Given the description of an element on the screen output the (x, y) to click on. 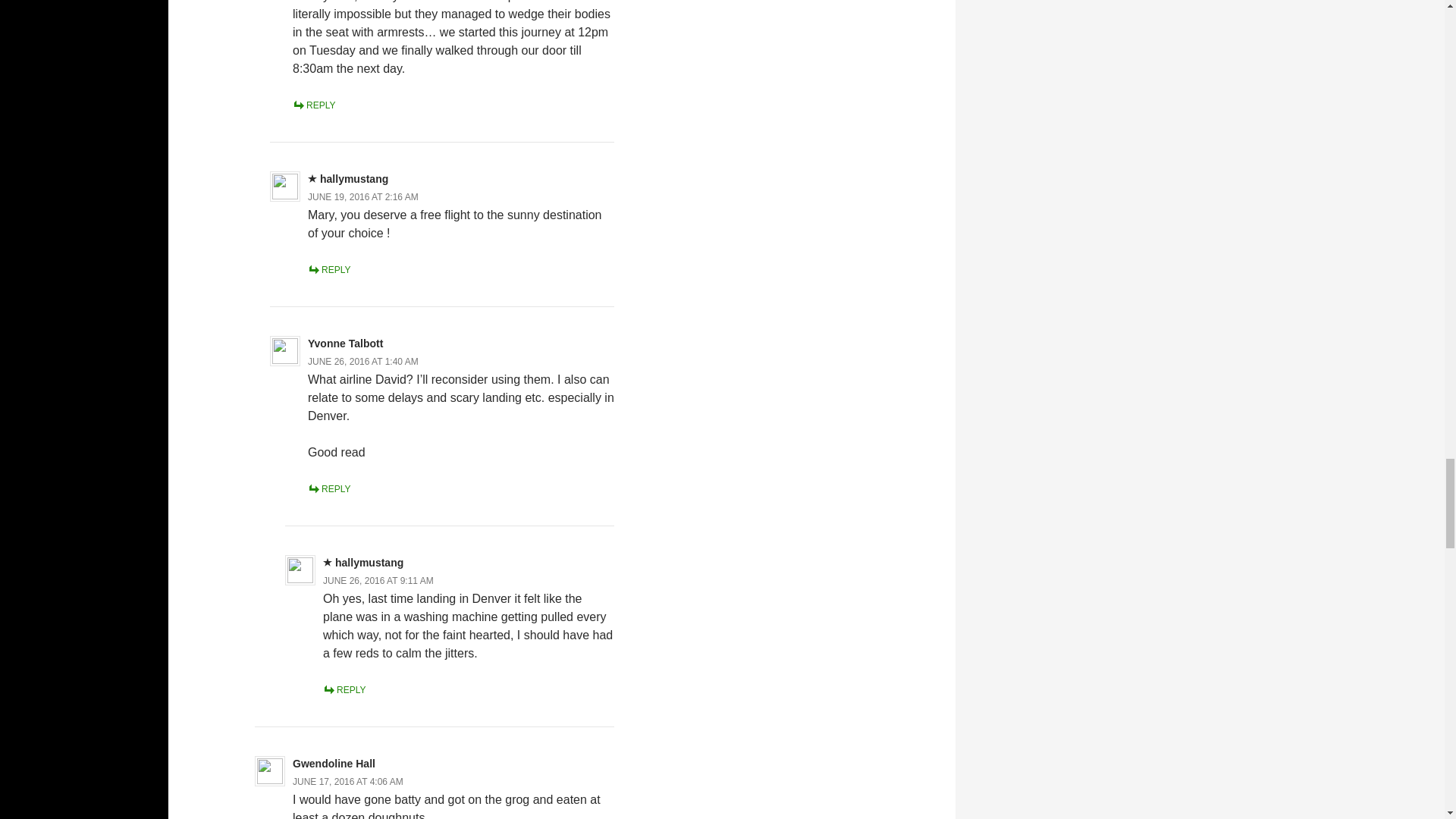
JUNE 19, 2016 AT 2:16 AM (363, 196)
REPLY (328, 269)
REPLY (313, 104)
